Given the description of an element on the screen output the (x, y) to click on. 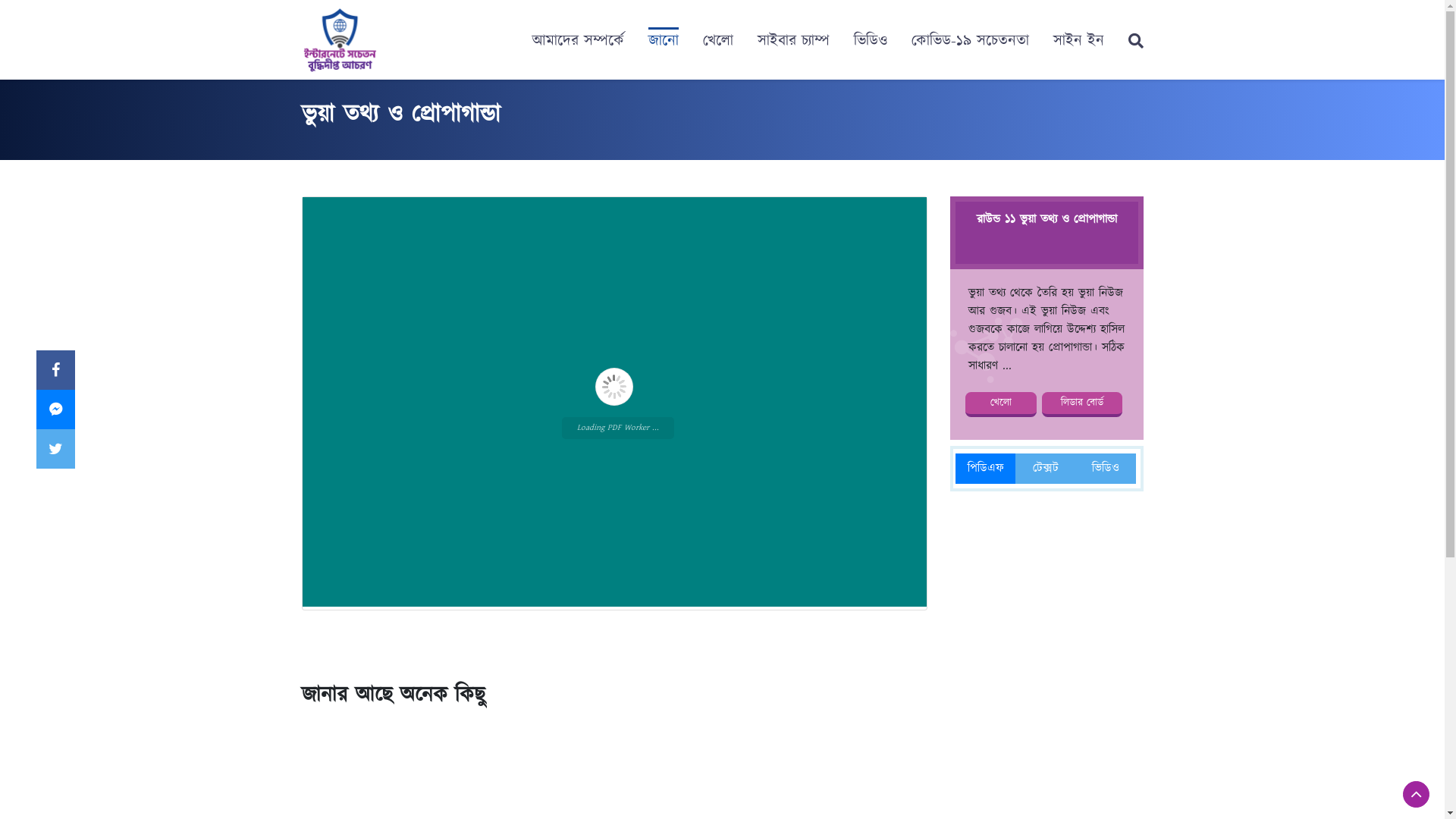
Back to Top Element type: hover (1415, 794)
